Given the description of an element on the screen output the (x, y) to click on. 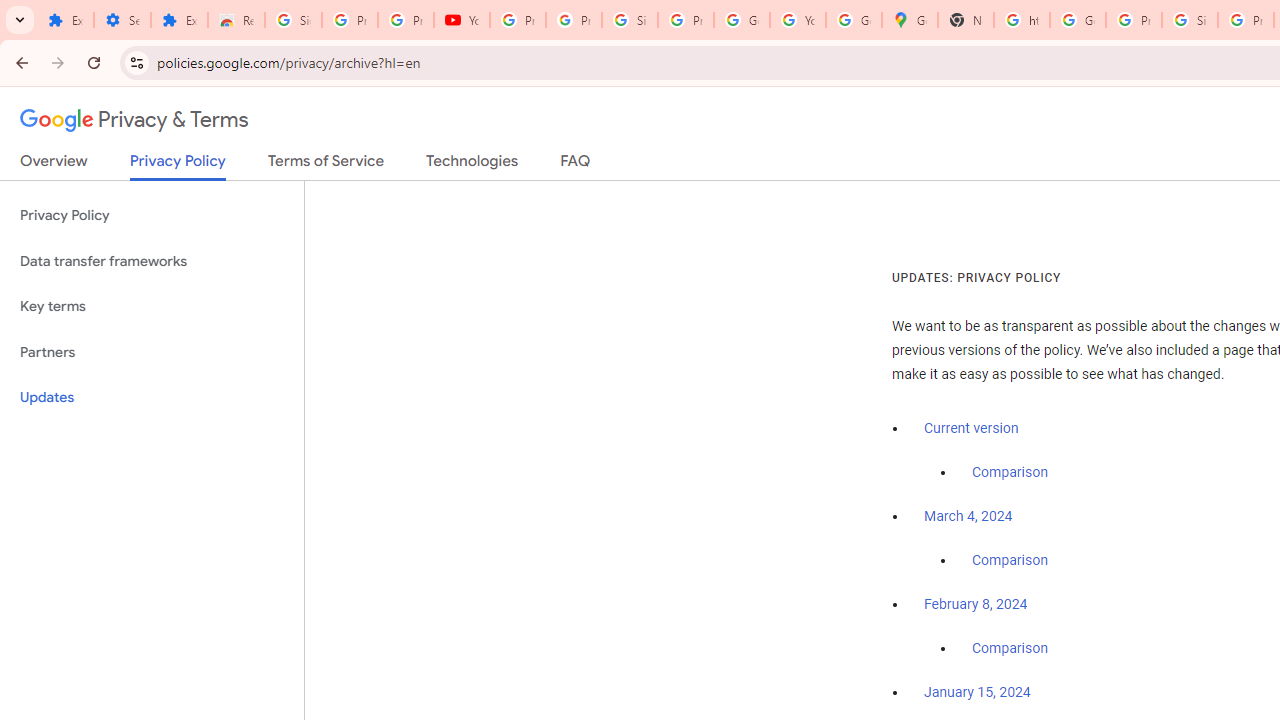
Current version (971, 428)
March 4, 2024 (968, 517)
Key terms (152, 306)
Google Maps (909, 20)
January 15, 2024 (977, 693)
Reviews: Helix Fruit Jump Arcade Game (235, 20)
Settings (122, 20)
